Given the description of an element on the screen output the (x, y) to click on. 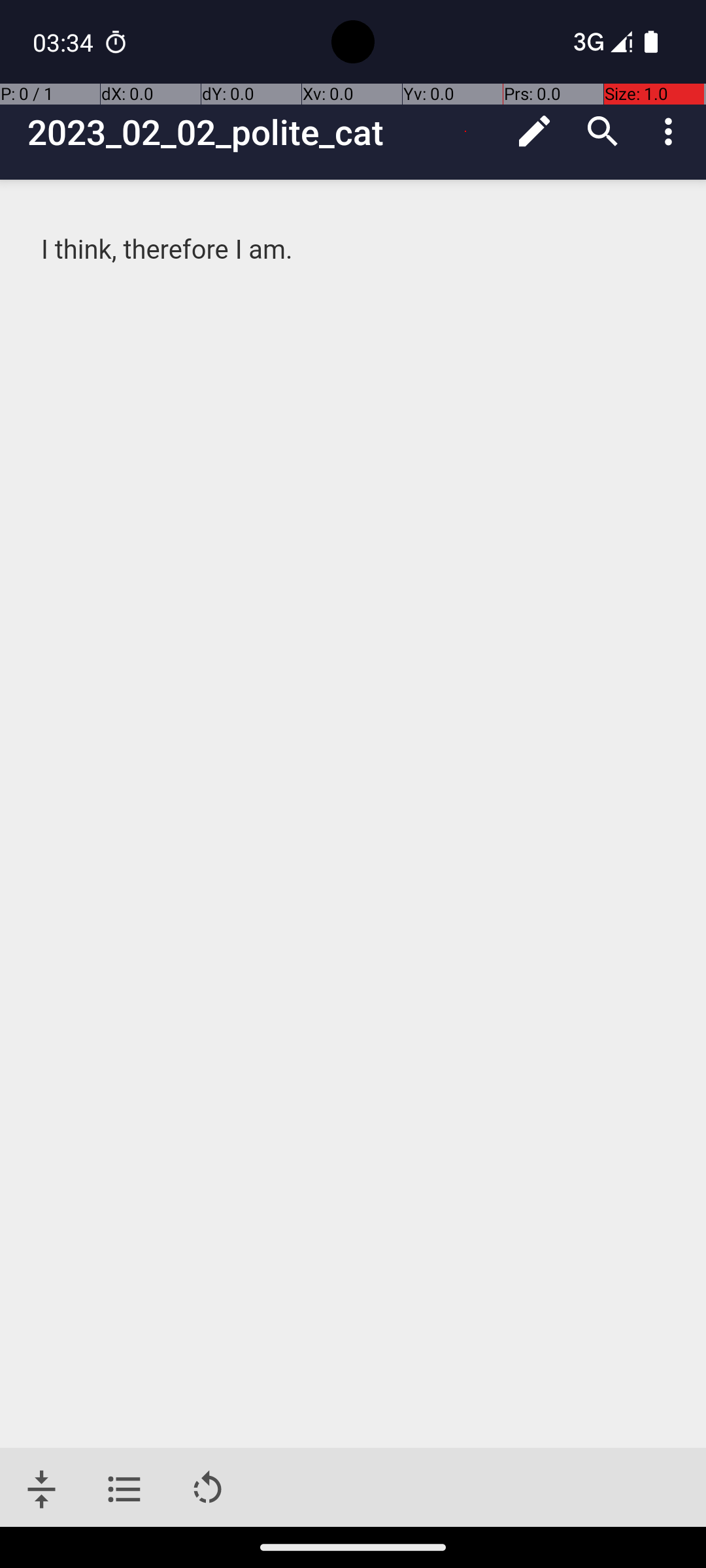
2023_02_02_polite_cat Element type: android.widget.TextView (263, 131)
I think, therefore I am. Element type: android.widget.TextView (354, 249)
03:34 Element type: android.widget.TextView (64, 41)
